Given the description of an element on the screen output the (x, y) to click on. 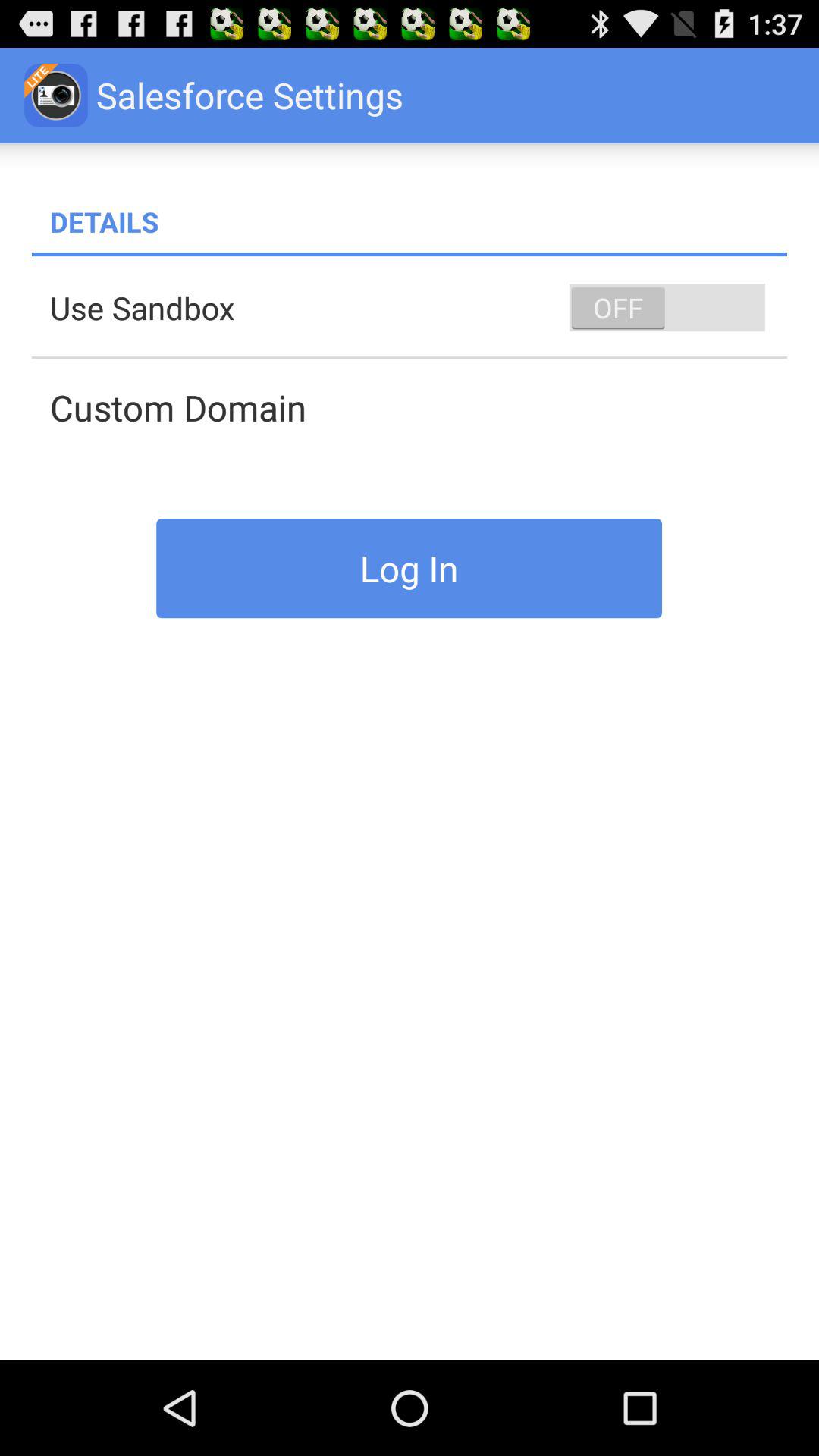
select the item below details item (409, 254)
